Given the description of an element on the screen output the (x, y) to click on. 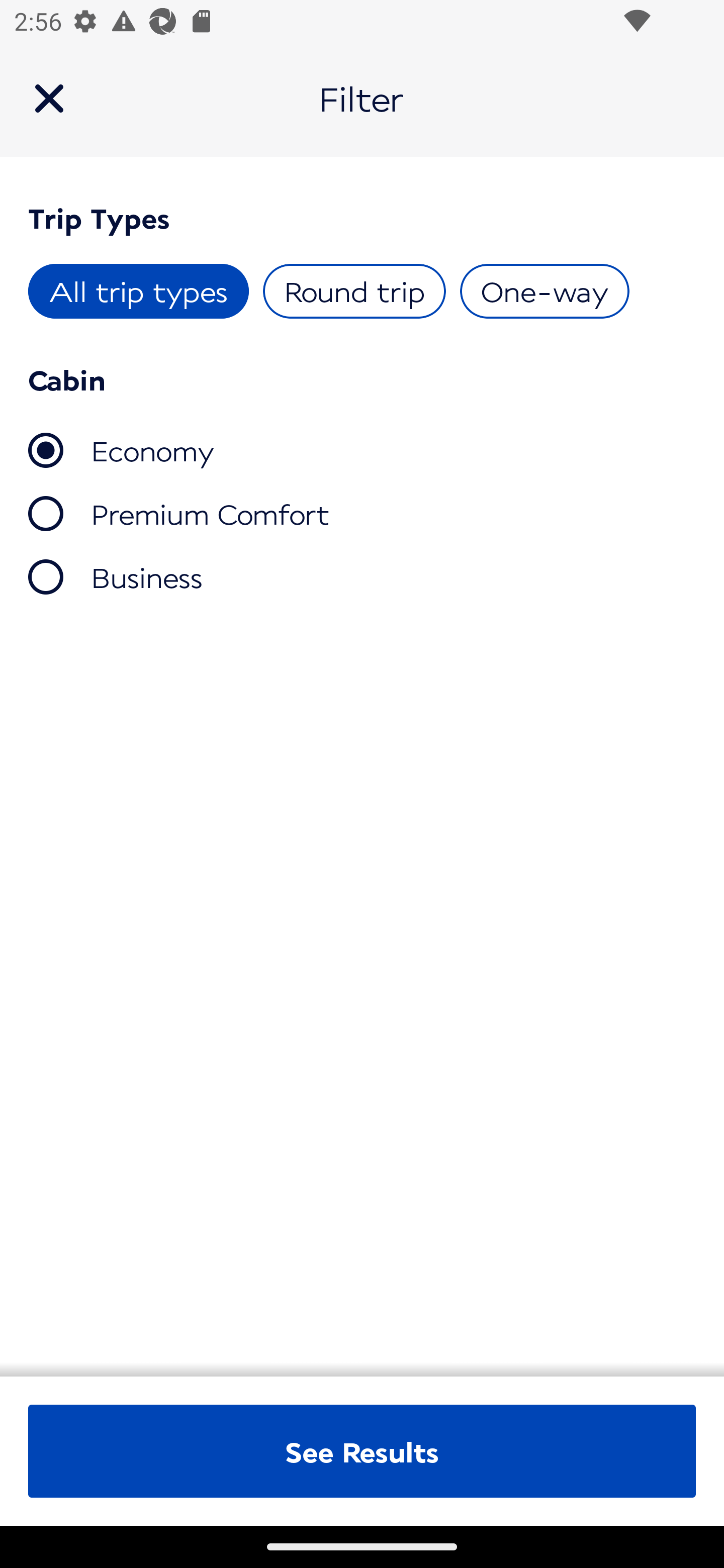
All trip types (138, 291)
Round trip (353, 291)
One-way (544, 291)
See Results (361, 1450)
